Given the description of an element on the screen output the (x, y) to click on. 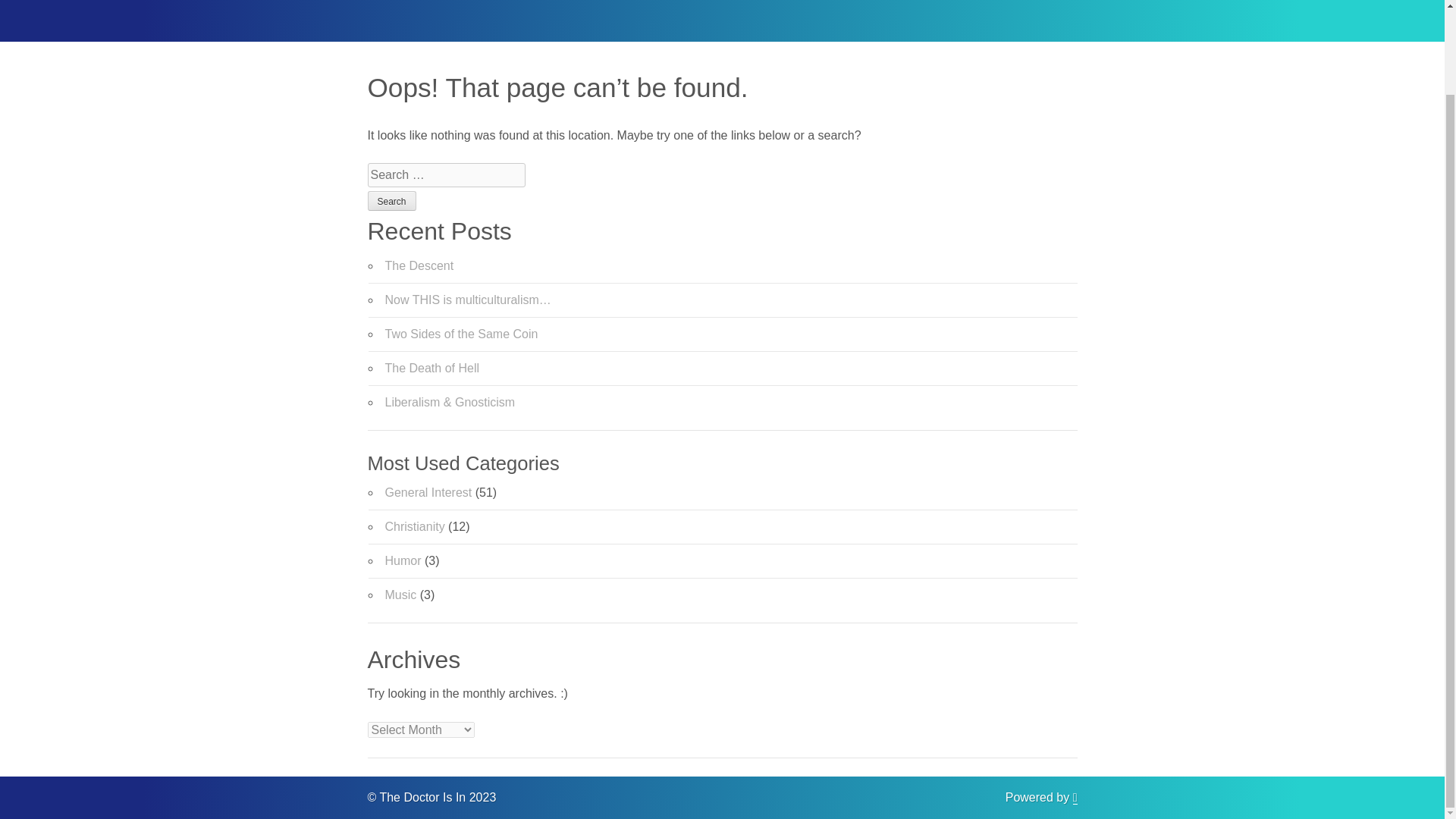
Search (390, 200)
Search (390, 200)
Christianity (415, 526)
Search (390, 200)
Two Sides of the Same Coin (461, 333)
Music (400, 594)
General Interest (428, 492)
The Death of Hell (432, 367)
The Descent (419, 265)
Humor (403, 560)
